Given the description of an element on the screen output the (x, y) to click on. 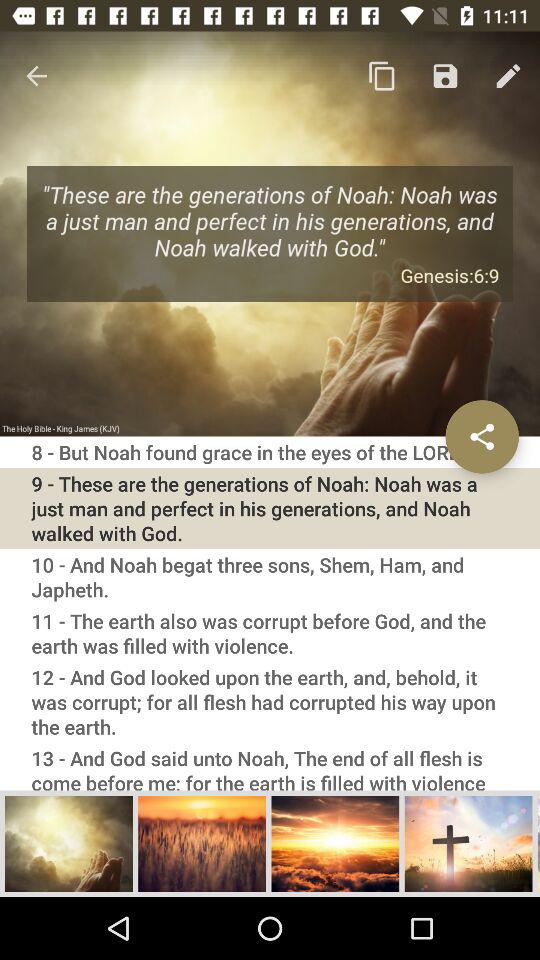
click on share (482, 437)
click on copy icon (382, 76)
select the second icon which is at the top right (445, 76)
click on the edit tool option on the top right of the page (508, 76)
